Given the description of an element on the screen output the (x, y) to click on. 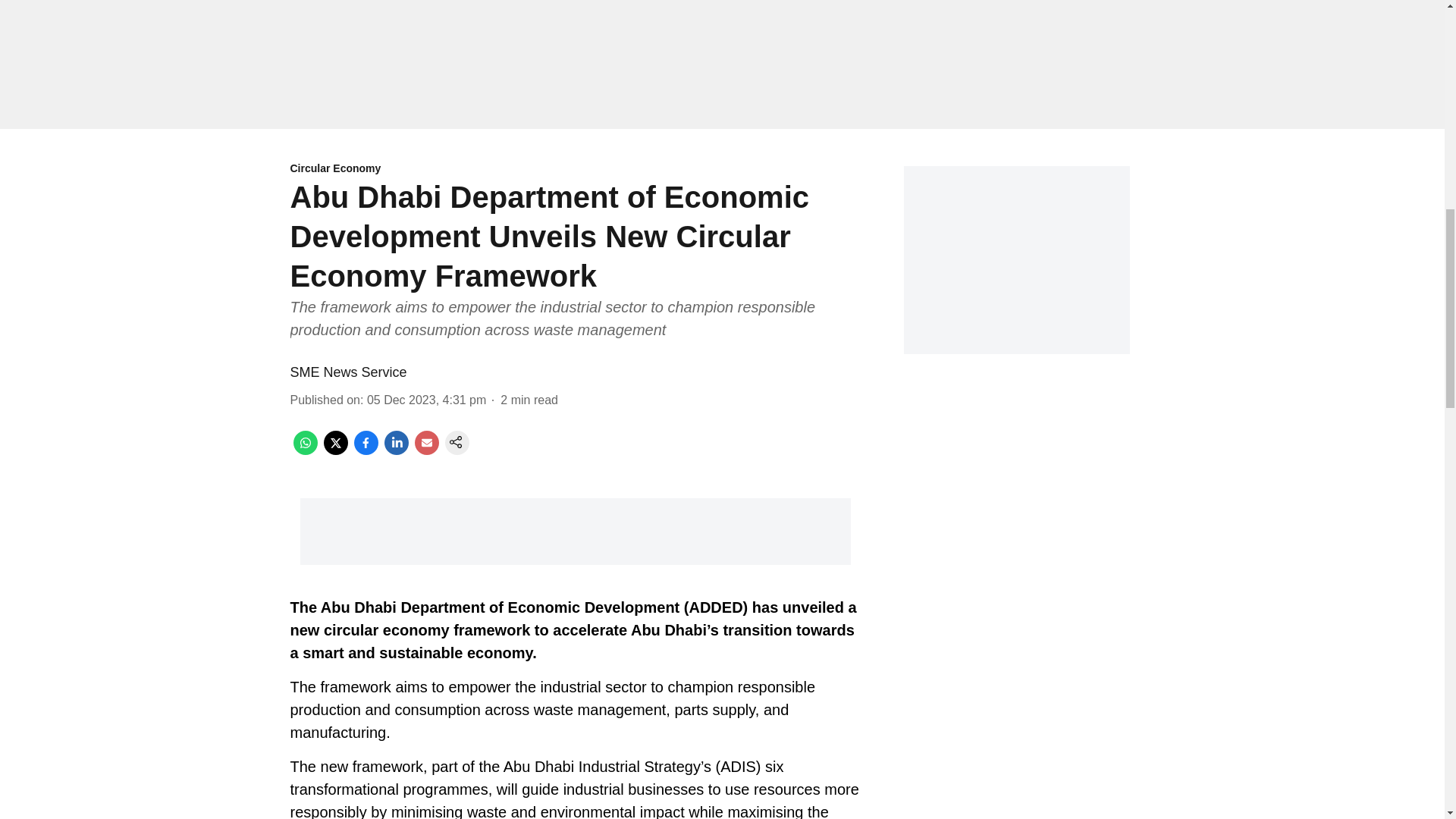
Circular Economy (574, 169)
2023-12-05 16:31 (426, 399)
SME News Service (347, 372)
